Given the description of an element on the screen output the (x, y) to click on. 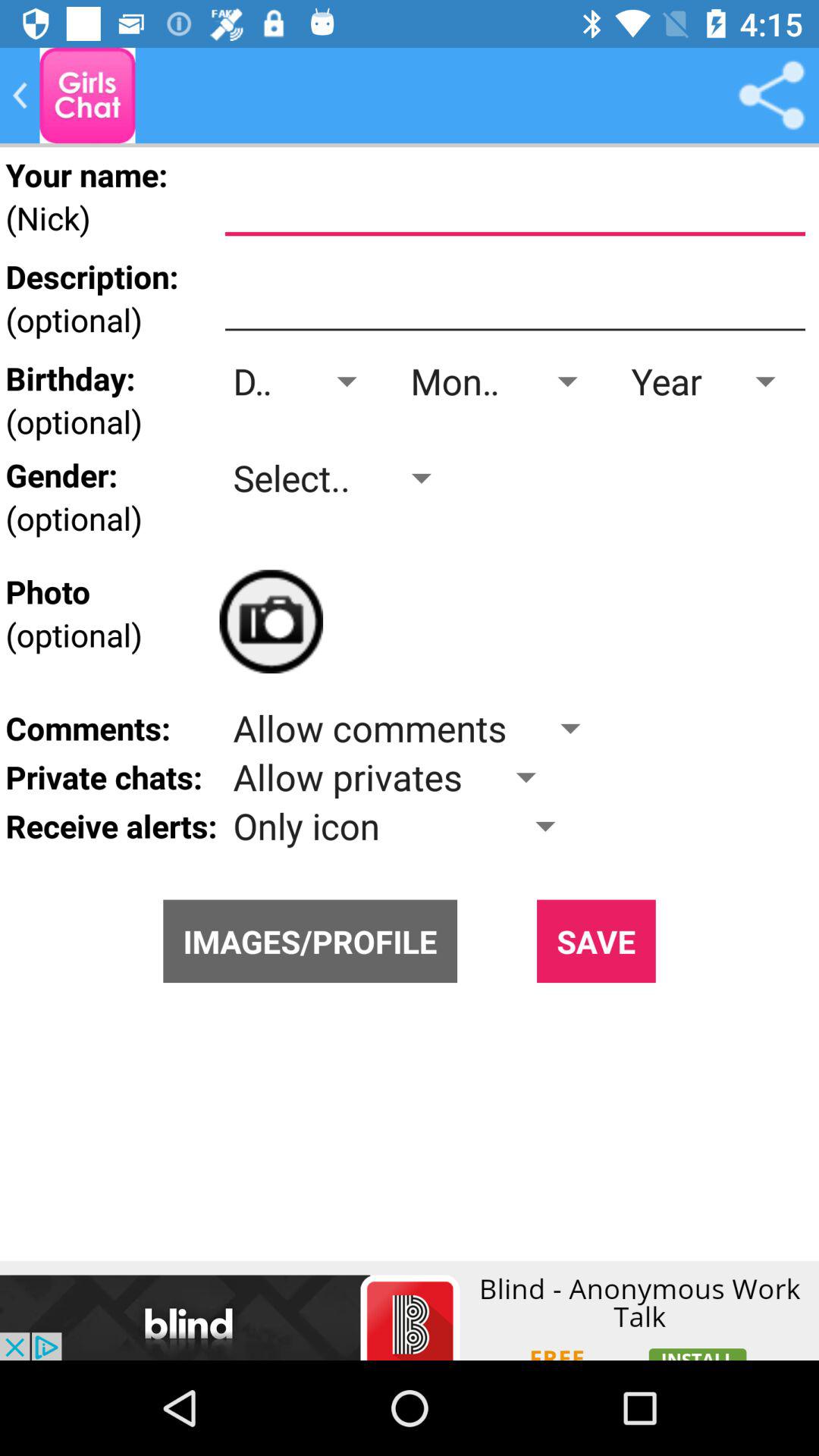
go to main menu (87, 95)
